Given the description of an element on the screen output the (x, y) to click on. 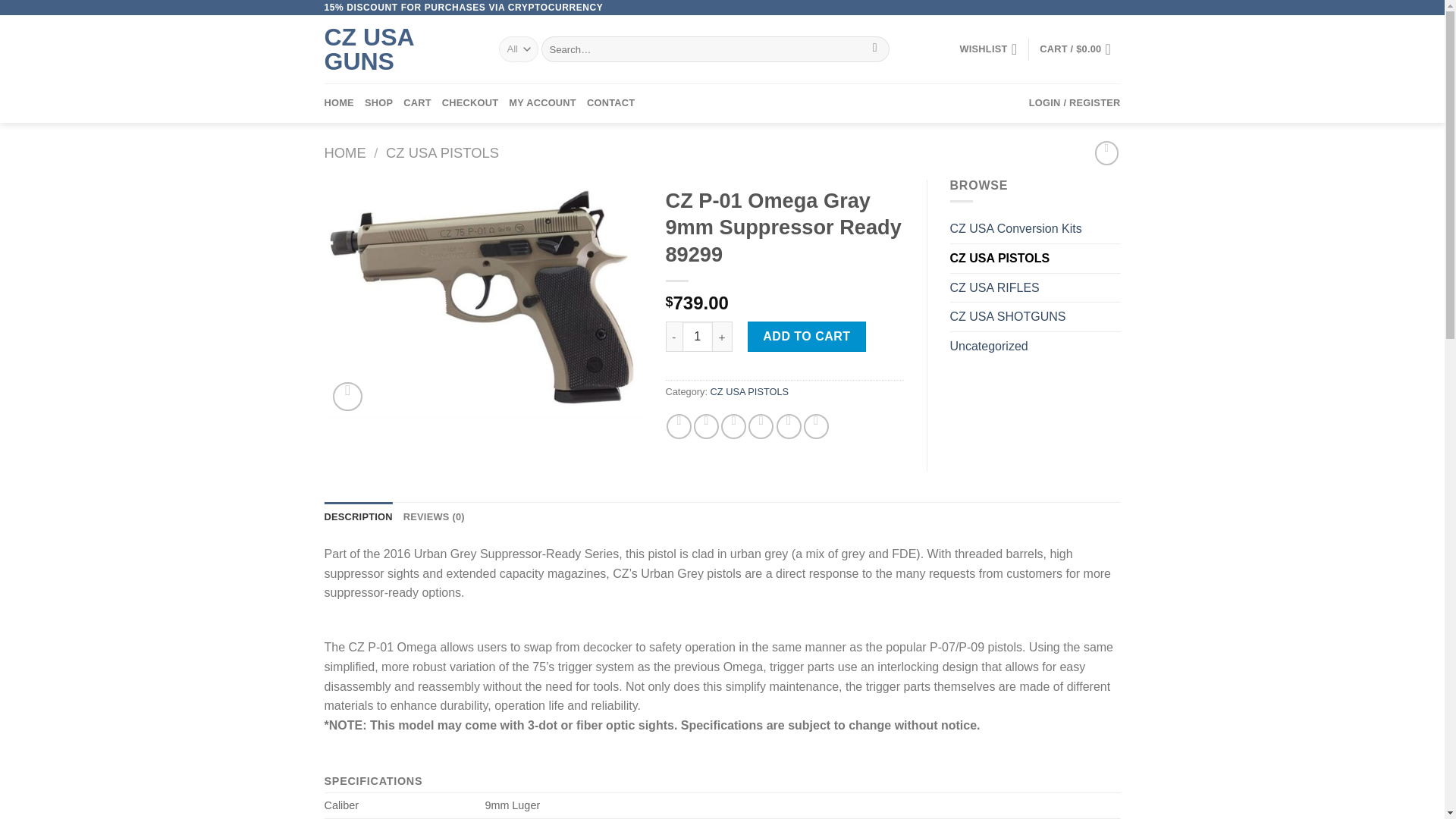
MY ACCOUNT (542, 102)
Z84 (483, 298)
CZ USA GUNS (400, 49)
CHECKOUT (470, 102)
CZ USA Conversion Kits (1034, 228)
CONTACT (610, 102)
1 (697, 336)
Cart (1079, 49)
ADD TO CART (807, 336)
HOME (345, 152)
